Given the description of an element on the screen output the (x, y) to click on. 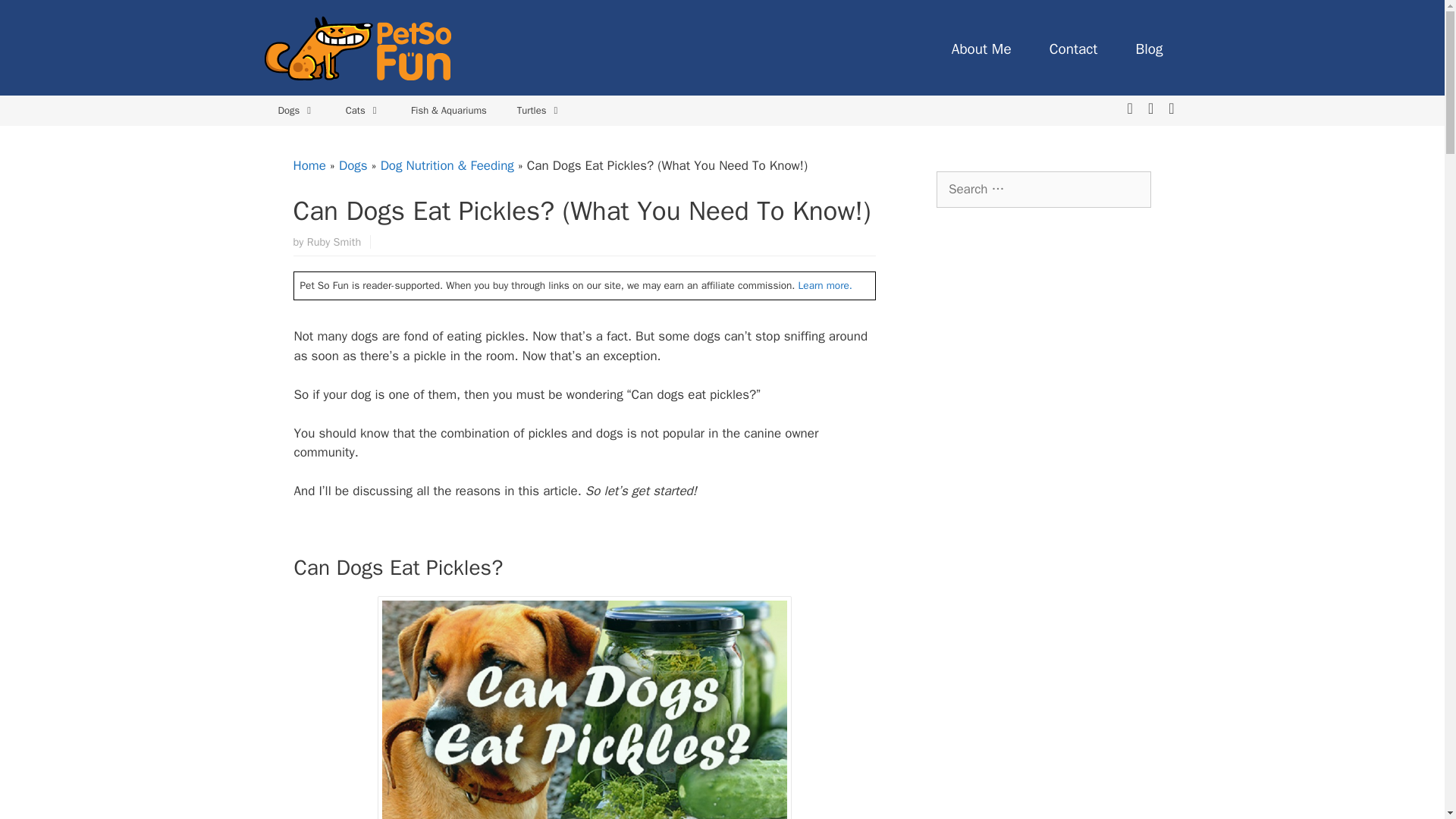
Learn more. (824, 285)
Search (35, 18)
About Me (981, 49)
Search for: (1043, 189)
Contact (1073, 49)
Cats (363, 110)
Blog (1148, 49)
Turtles (539, 110)
Dogs (353, 165)
Dogs (296, 110)
Home (308, 165)
